Given the description of an element on the screen output the (x, y) to click on. 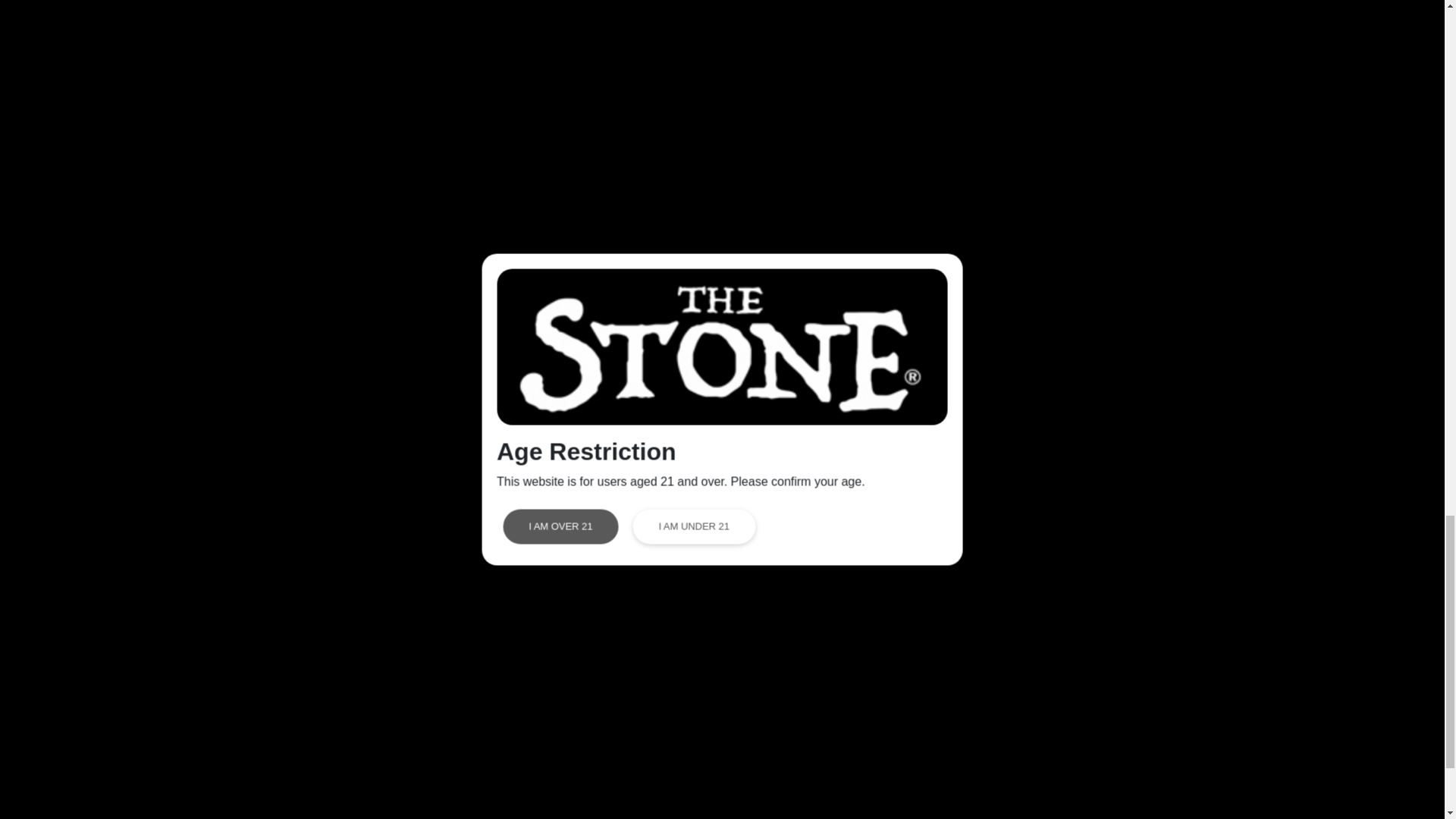
BLOG (632, 760)
HOME (405, 735)
Instagram (890, 784)
ORDER NOW (425, 812)
Facebook (890, 733)
STORE INFO (424, 786)
CONTACT US (1146, 778)
DEALS (635, 735)
Twitter (881, 758)
ABOUT US (418, 760)
CONTACT (644, 786)
